Given the description of an element on the screen output the (x, y) to click on. 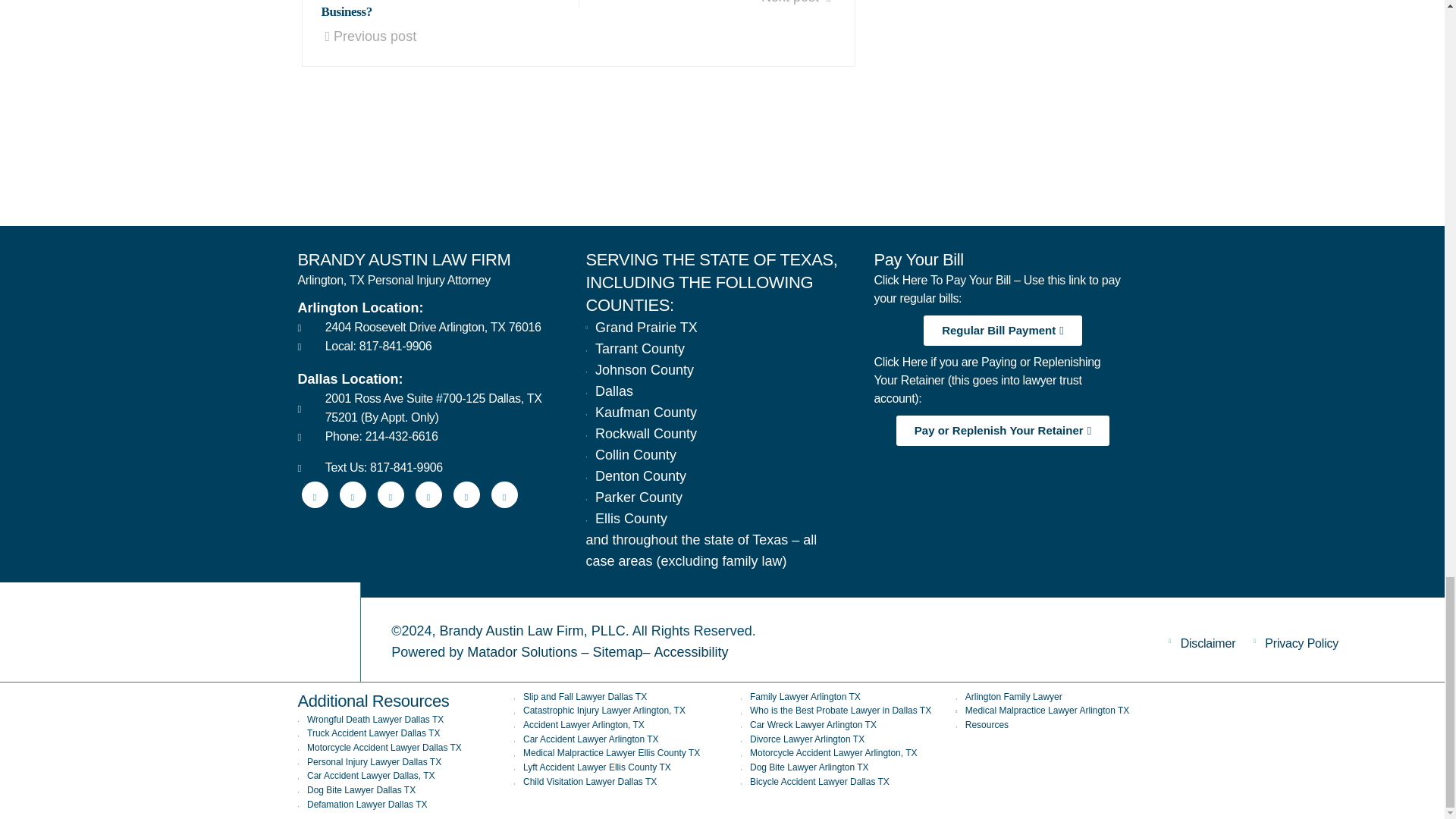
Avvo Rating - Top Attorney (380, 161)
Super Lawyers (619, 161)
NAELA (1097, 161)
American Institution of Legal Counsel (858, 161)
